Given the description of an element on the screen output the (x, y) to click on. 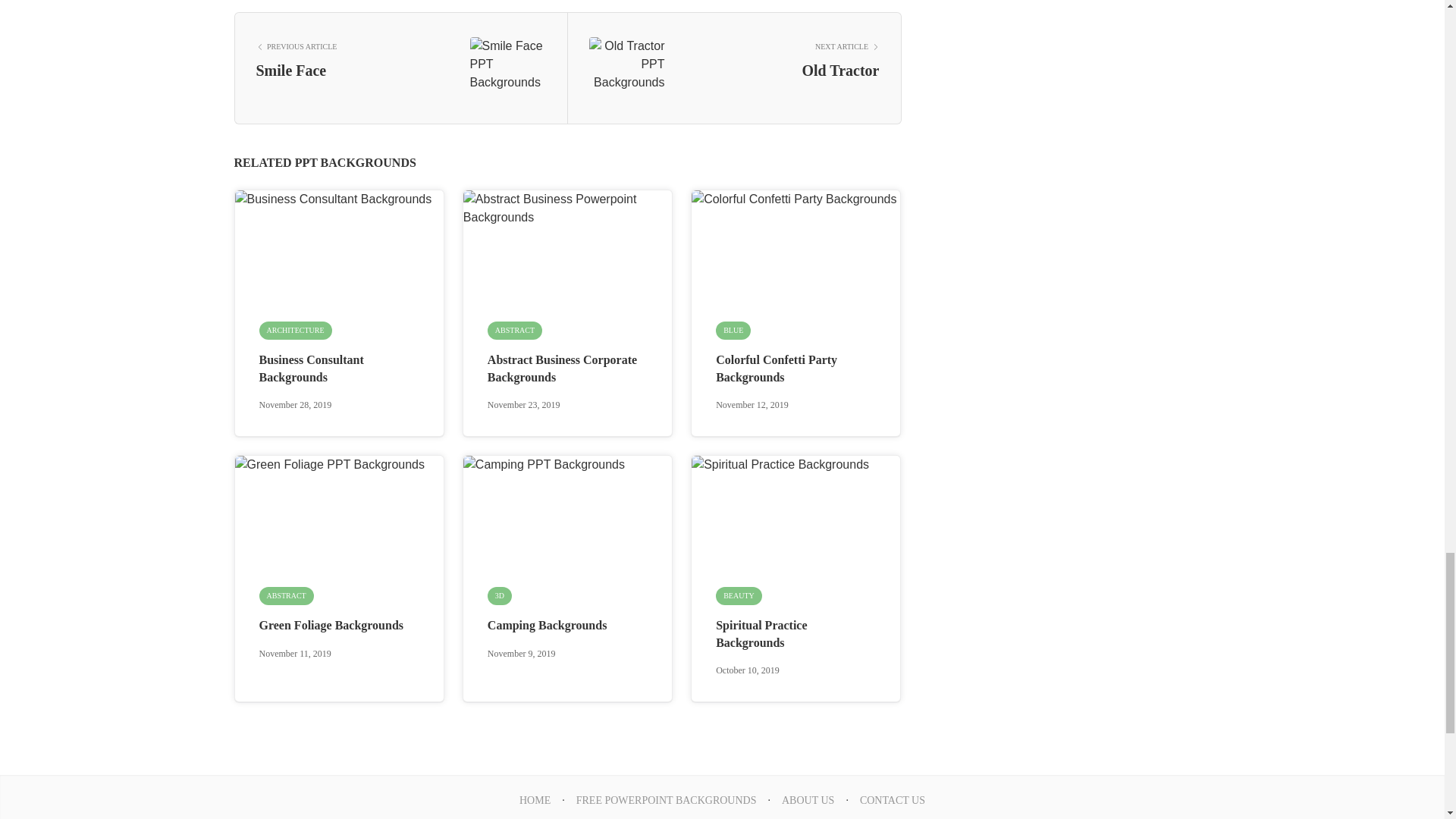
View all posts in Abstract (514, 330)
November 28, 2019 (295, 404)
View all posts in Architecture (295, 330)
